Given the description of an element on the screen output the (x, y) to click on. 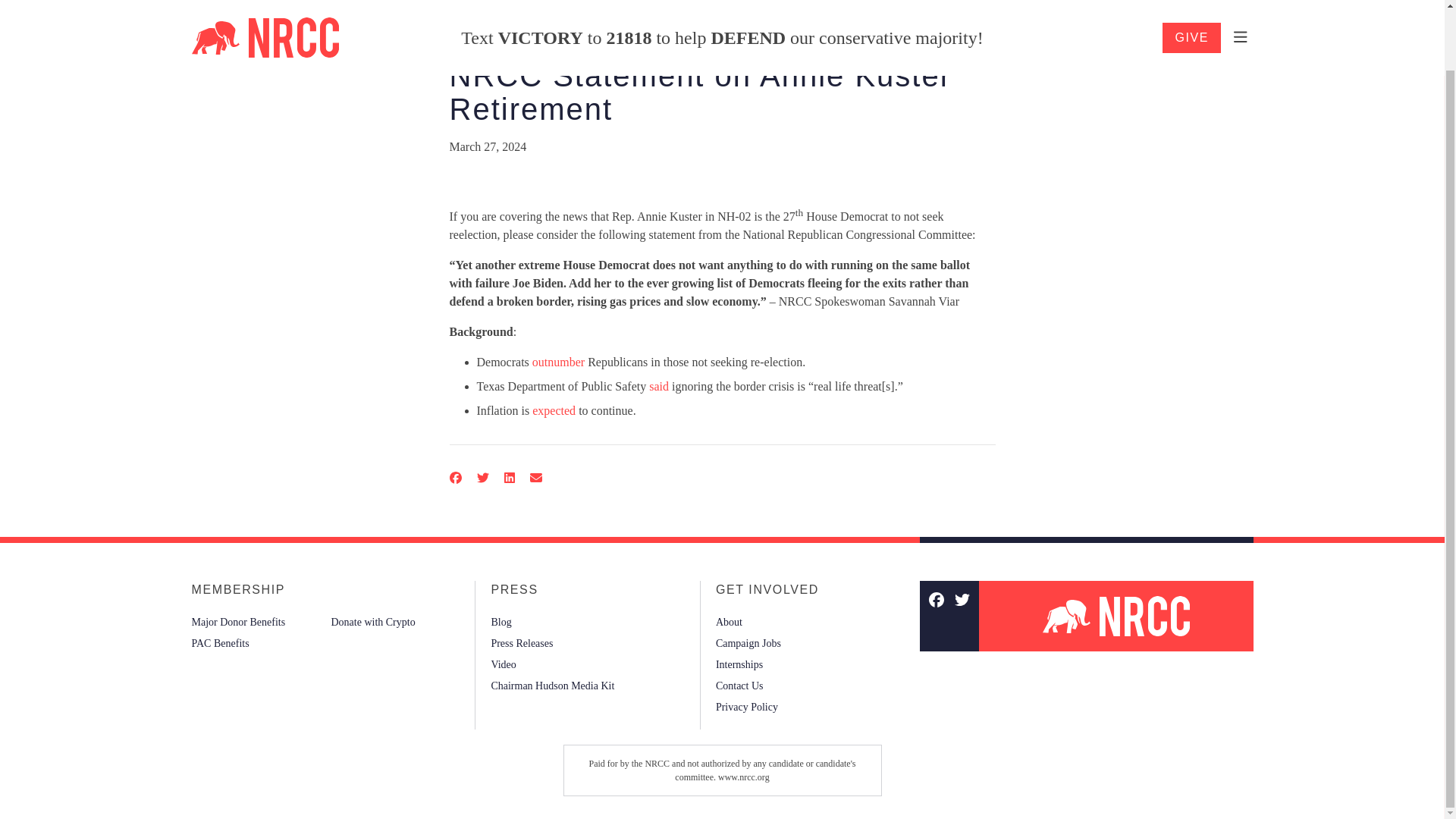
Major Donor Benefits (237, 621)
About (729, 621)
Press Releases (521, 642)
Video (502, 663)
Share on LinkedIn (508, 478)
Chairman Hudson Media Kit (552, 685)
Donate with Crypto (372, 621)
Campaign Jobs (748, 642)
Share via Email (534, 478)
Contact Us (739, 685)
